Given the description of an element on the screen output the (x, y) to click on. 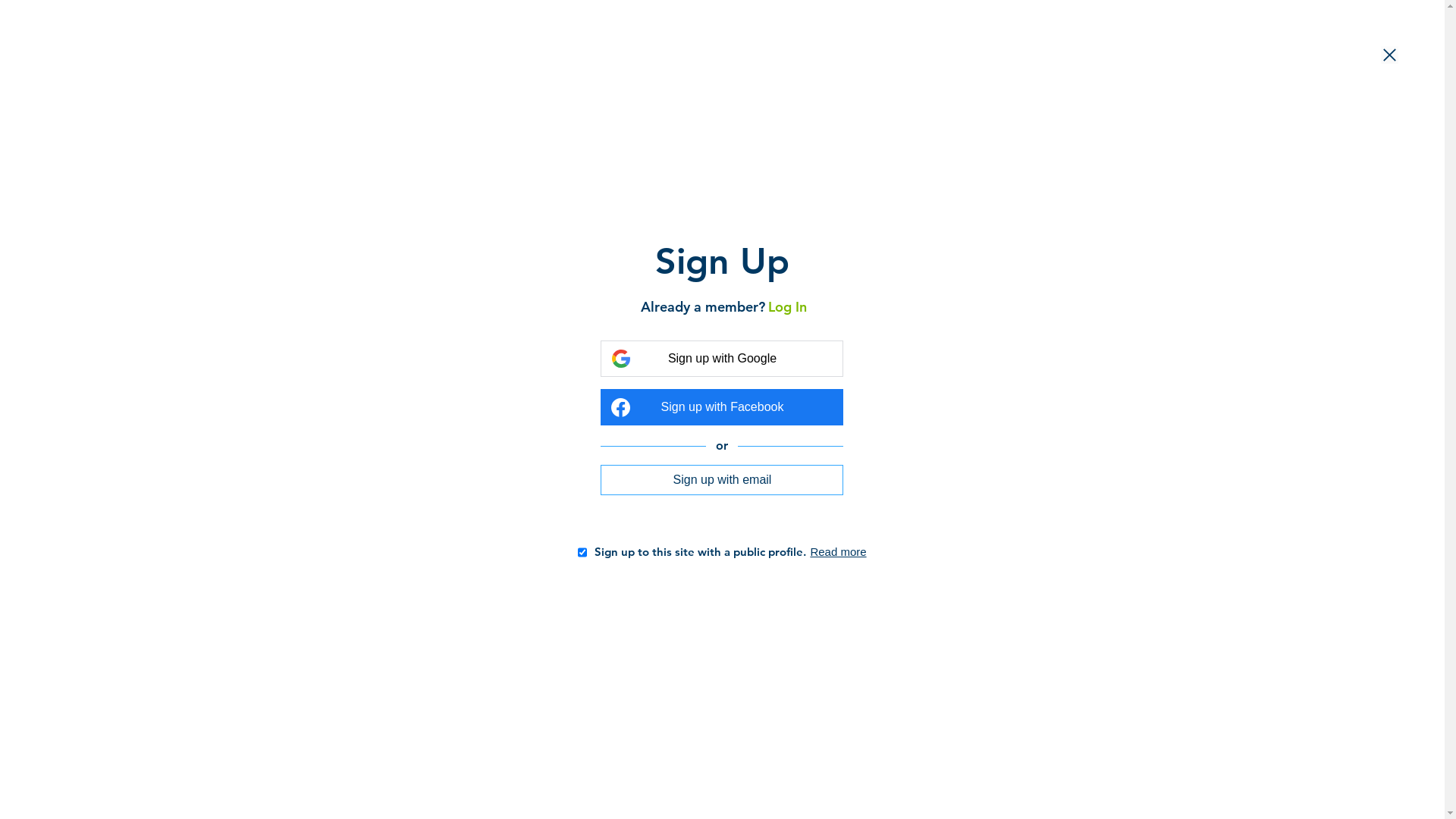
Sign up with email Element type: text (721, 479)
Sign up with Google Element type: text (721, 358)
Read more Element type: text (837, 551)
Log In Element type: text (784, 306)
Sign up with Facebook Element type: text (721, 407)
